Given the description of an element on the screen output the (x, y) to click on. 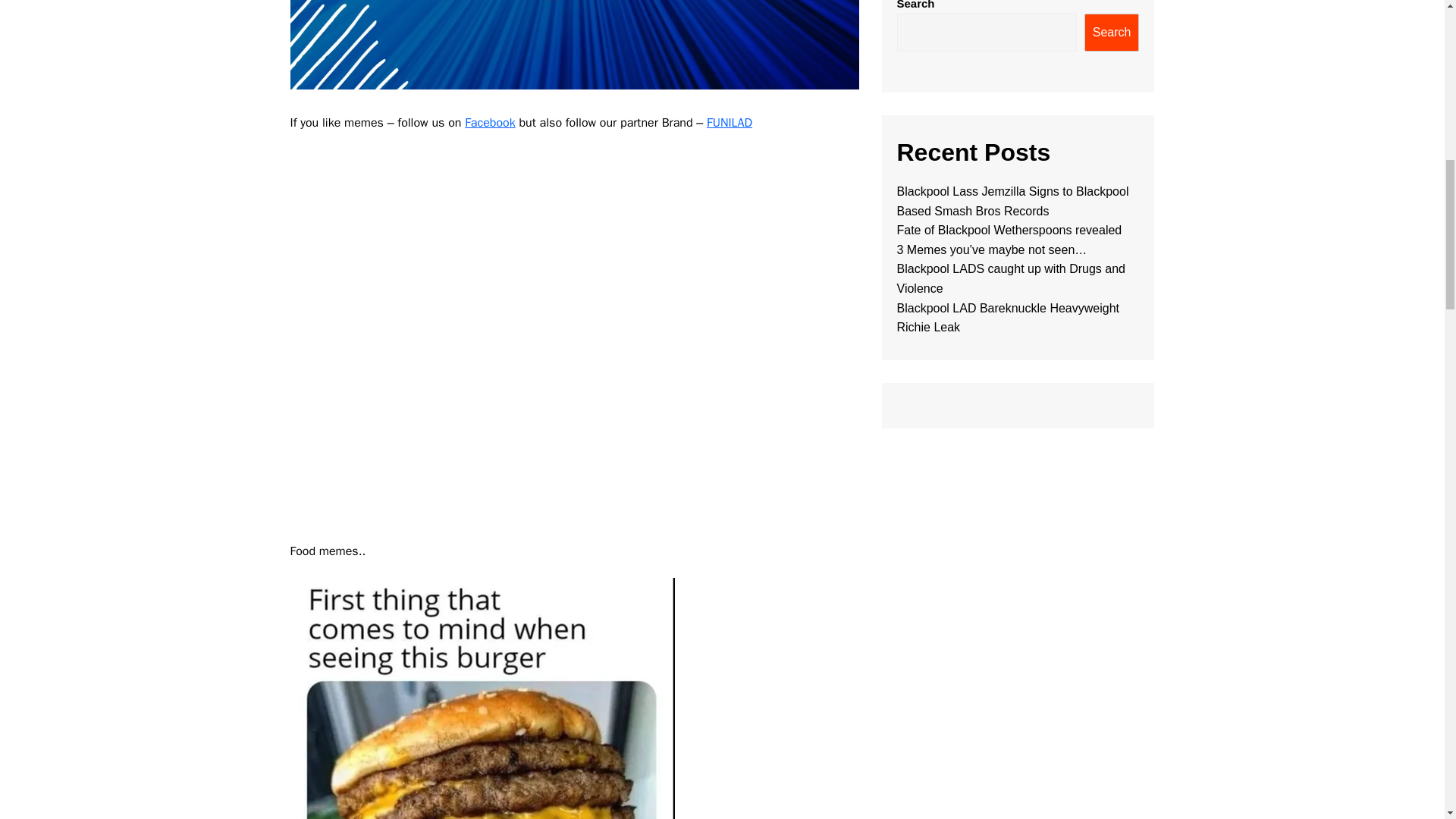
Blackpool LADS caught up with Drugs and Violence (1010, 278)
Facebook (489, 122)
FUNILAD (729, 122)
Search (1112, 32)
Fate of Blackpool Wetherspoons revealed (1008, 229)
